Given the description of an element on the screen output the (x, y) to click on. 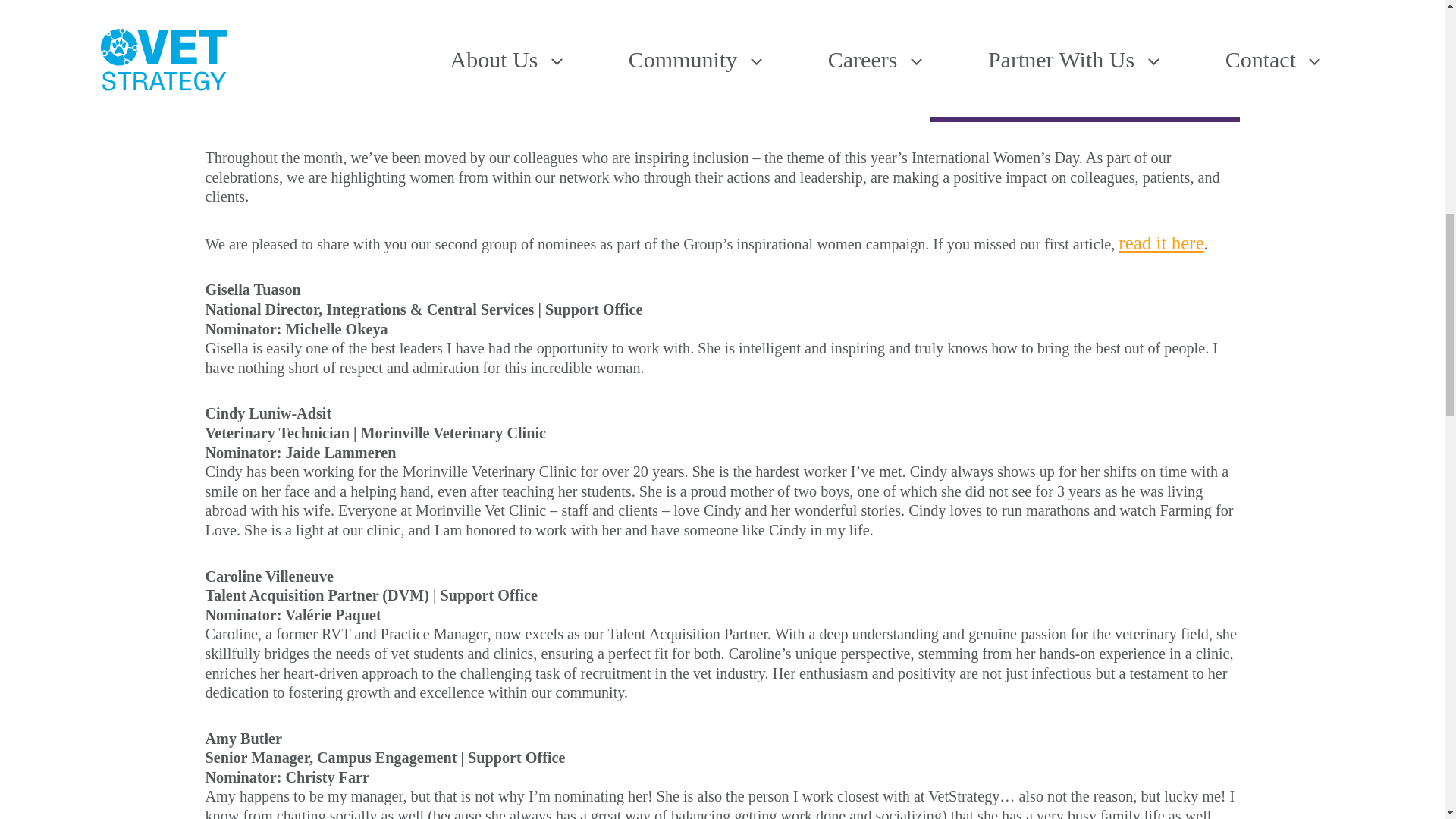
read it here (1161, 242)
